Given the description of an element on the screen output the (x, y) to click on. 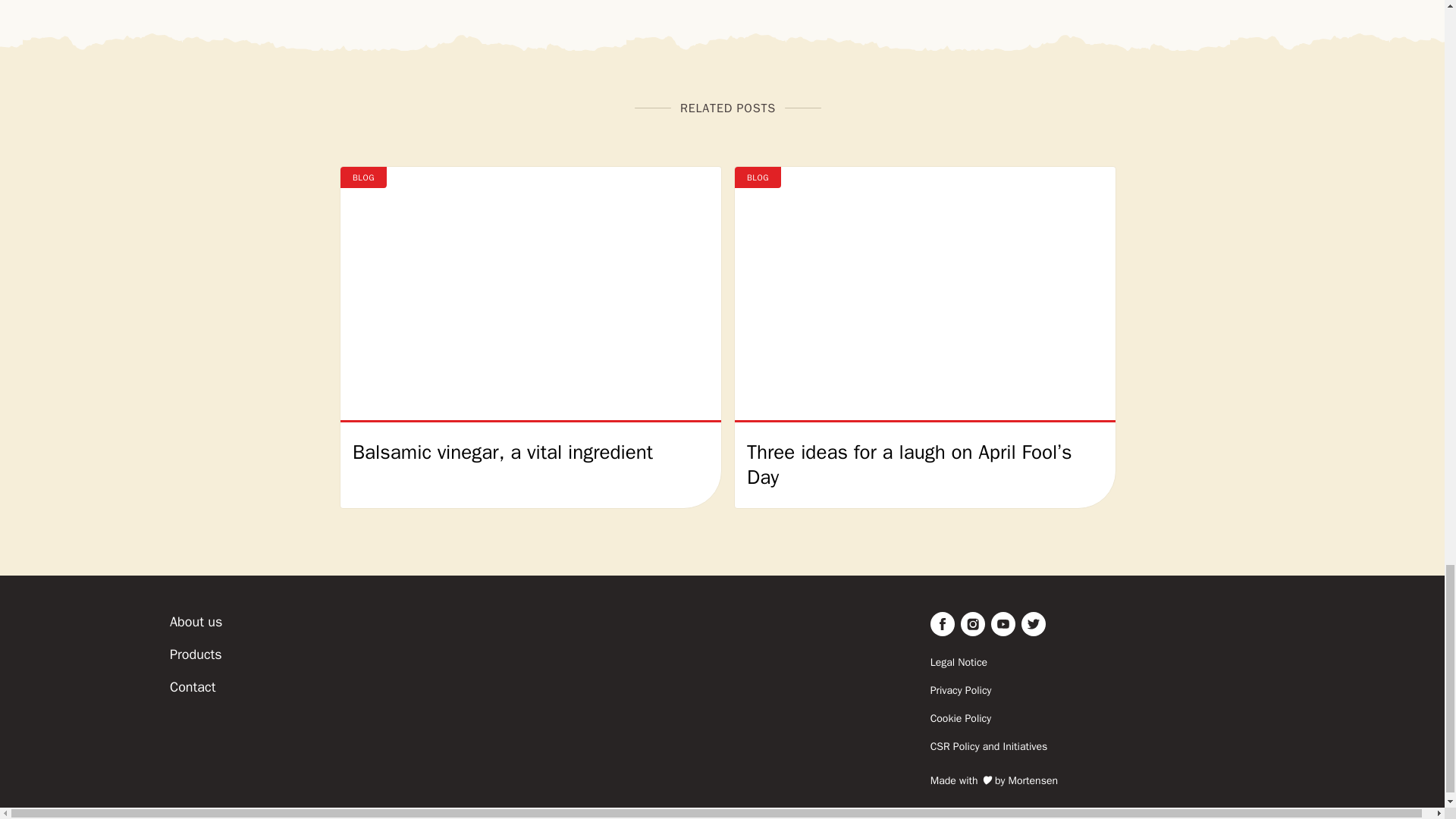
Legal Notice (1107, 662)
Products (196, 654)
About us (196, 621)
Contact (192, 686)
Privacy Policy (1107, 690)
